Given the description of an element on the screen output the (x, y) to click on. 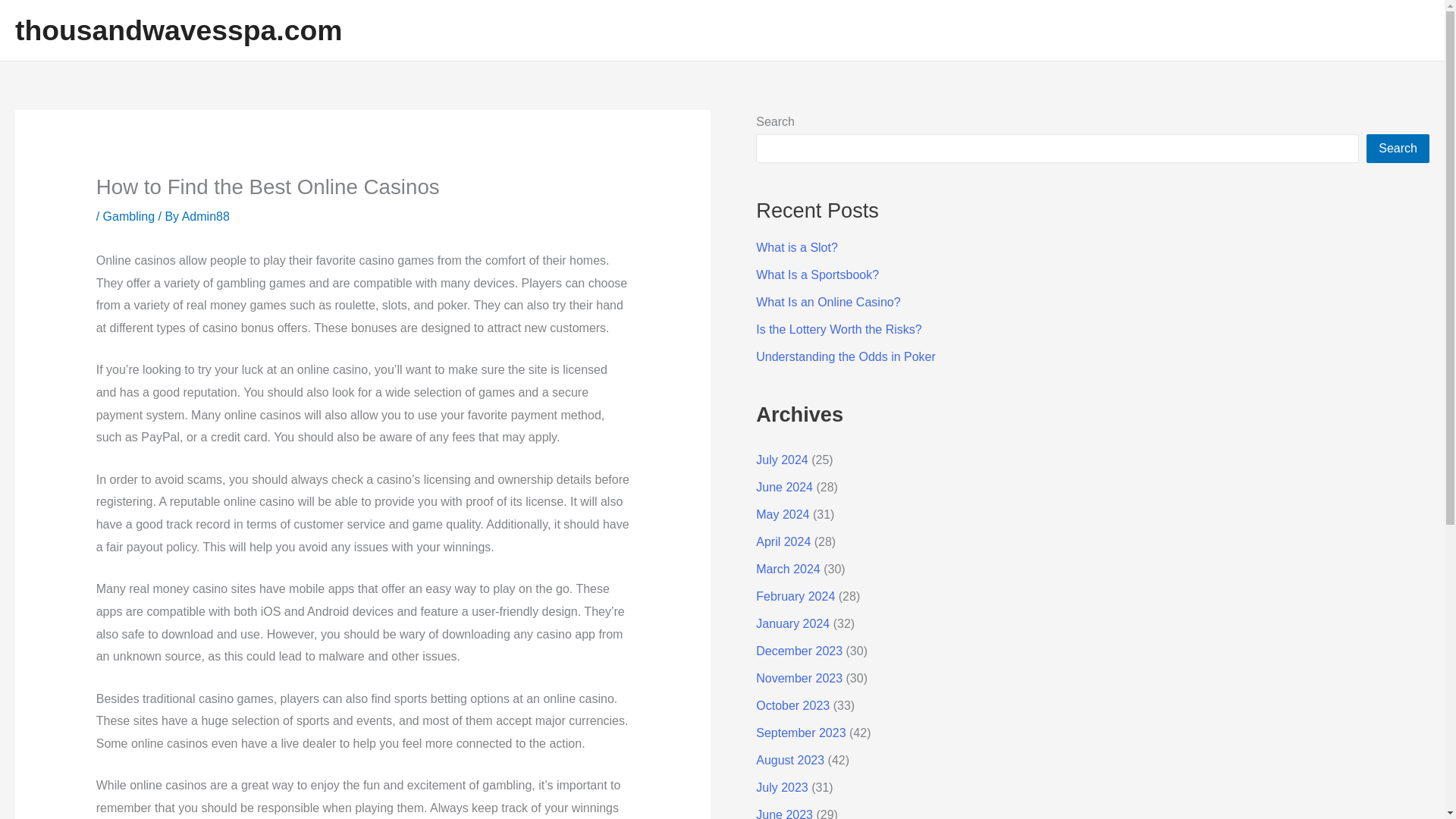
May 2024 (782, 513)
Is the Lottery Worth the Risks? (838, 328)
February 2024 (794, 595)
September 2023 (800, 732)
June 2024 (783, 486)
November 2023 (799, 677)
Understanding the Odds in Poker (845, 356)
Search (1398, 148)
July 2024 (781, 459)
April 2024 (782, 541)
What Is an Online Casino? (827, 301)
August 2023 (789, 759)
thousandwavesspa.com (178, 29)
What Is a Sportsbook? (817, 274)
View all posts by Admin88 (206, 215)
